Given the description of an element on the screen output the (x, y) to click on. 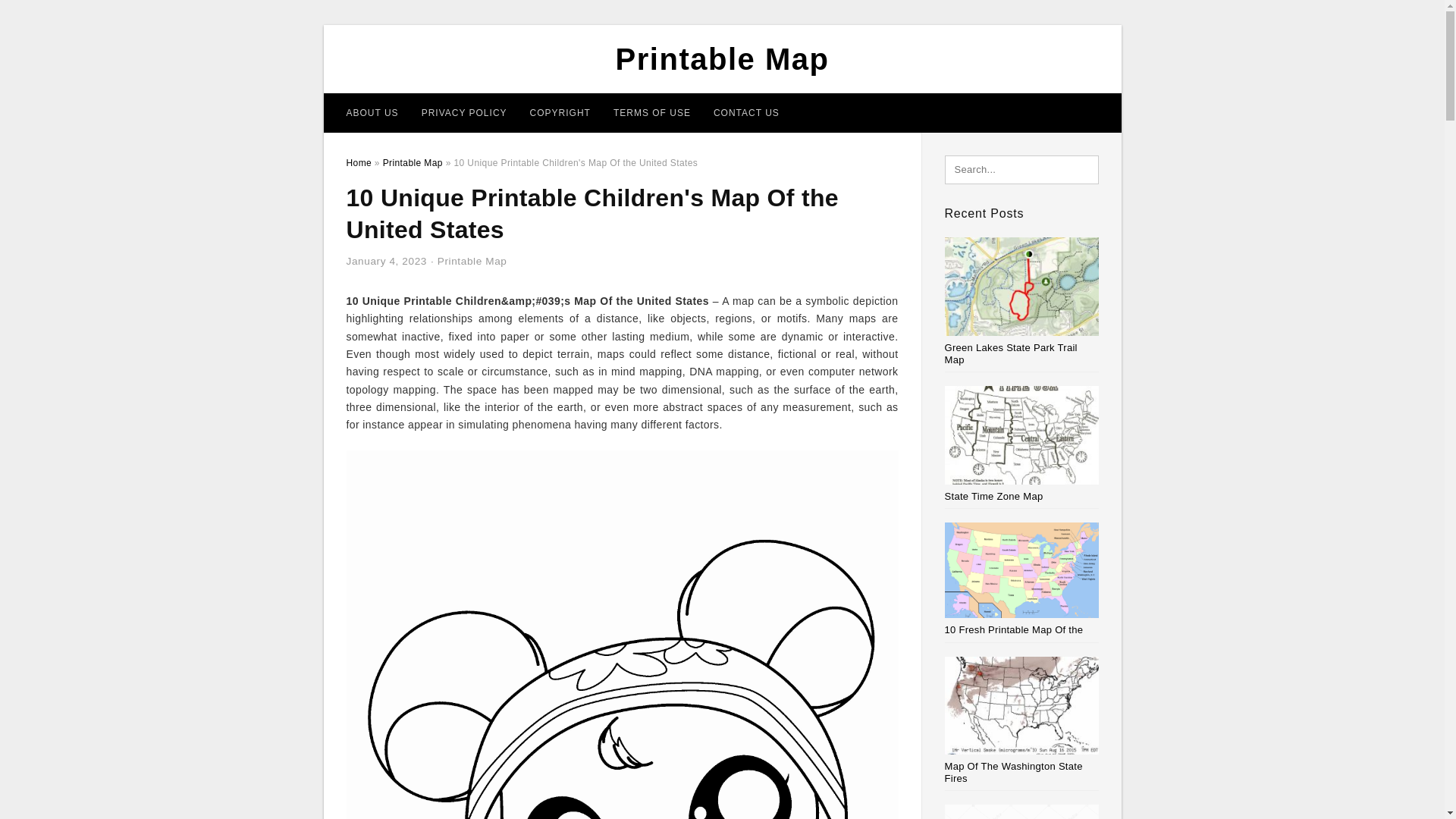
Printable Map (722, 59)
Printable Map (412, 163)
Home (358, 163)
ABOUT US (372, 112)
PRIVACY POLICY (464, 112)
Search (43, 15)
COPYRIGHT (560, 112)
CONTACT US (745, 112)
TERMS OF USE (651, 112)
Printable Map (472, 260)
